Given the description of an element on the screen output the (x, y) to click on. 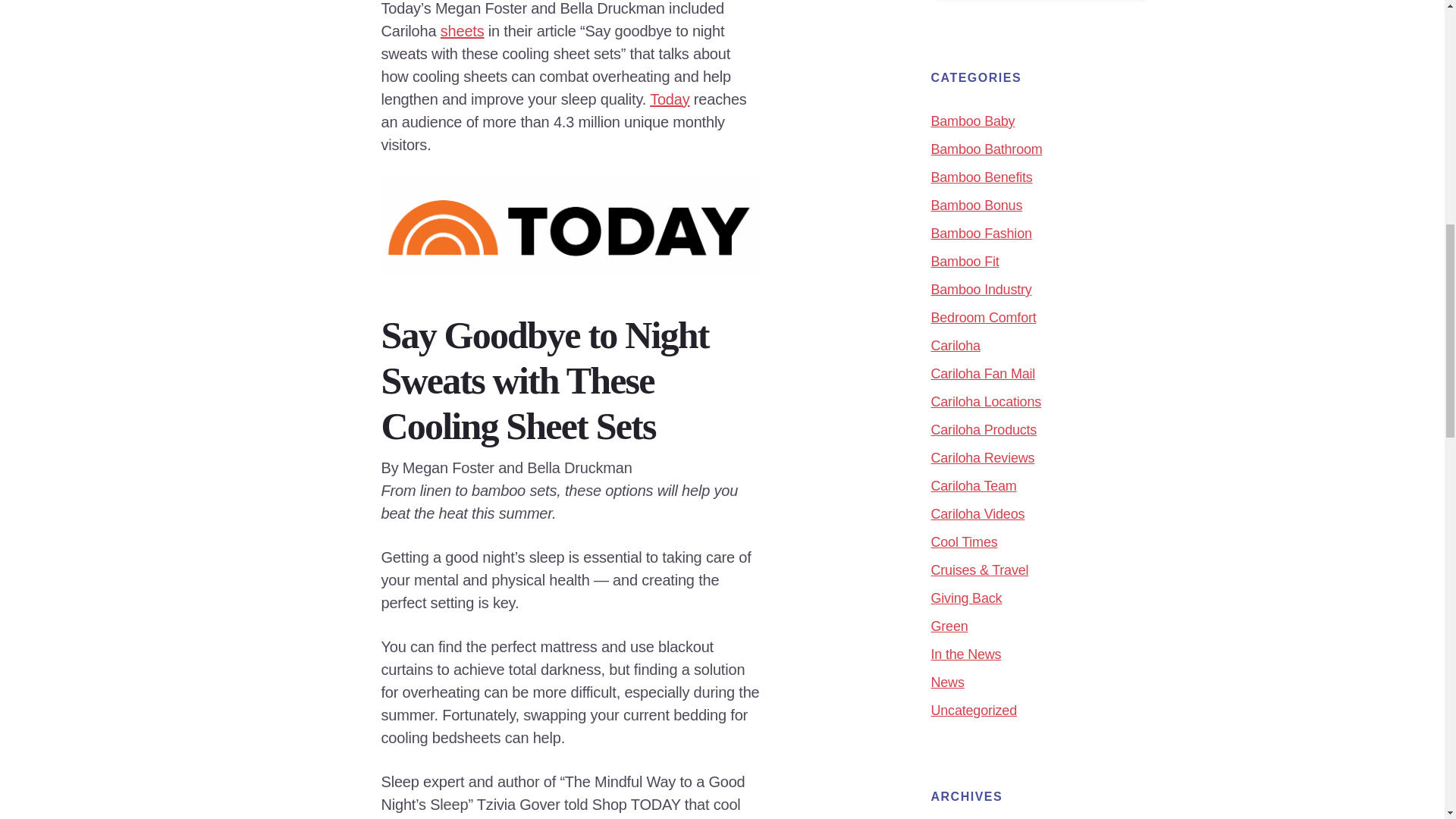
Cariloha (955, 345)
Bamboo Fashion (981, 233)
Cariloha Locations (986, 401)
Today (668, 98)
Bamboo Industry (981, 289)
Bedroom Comfort (983, 317)
Bamboo Fit (964, 261)
Bamboo Bonus (977, 205)
Bamboo Baby (972, 120)
Bamboo Benefits (981, 177)
sheets (462, 30)
Cariloha Fan Mail (983, 373)
Bamboo Bathroom (986, 149)
